Given the description of an element on the screen output the (x, y) to click on. 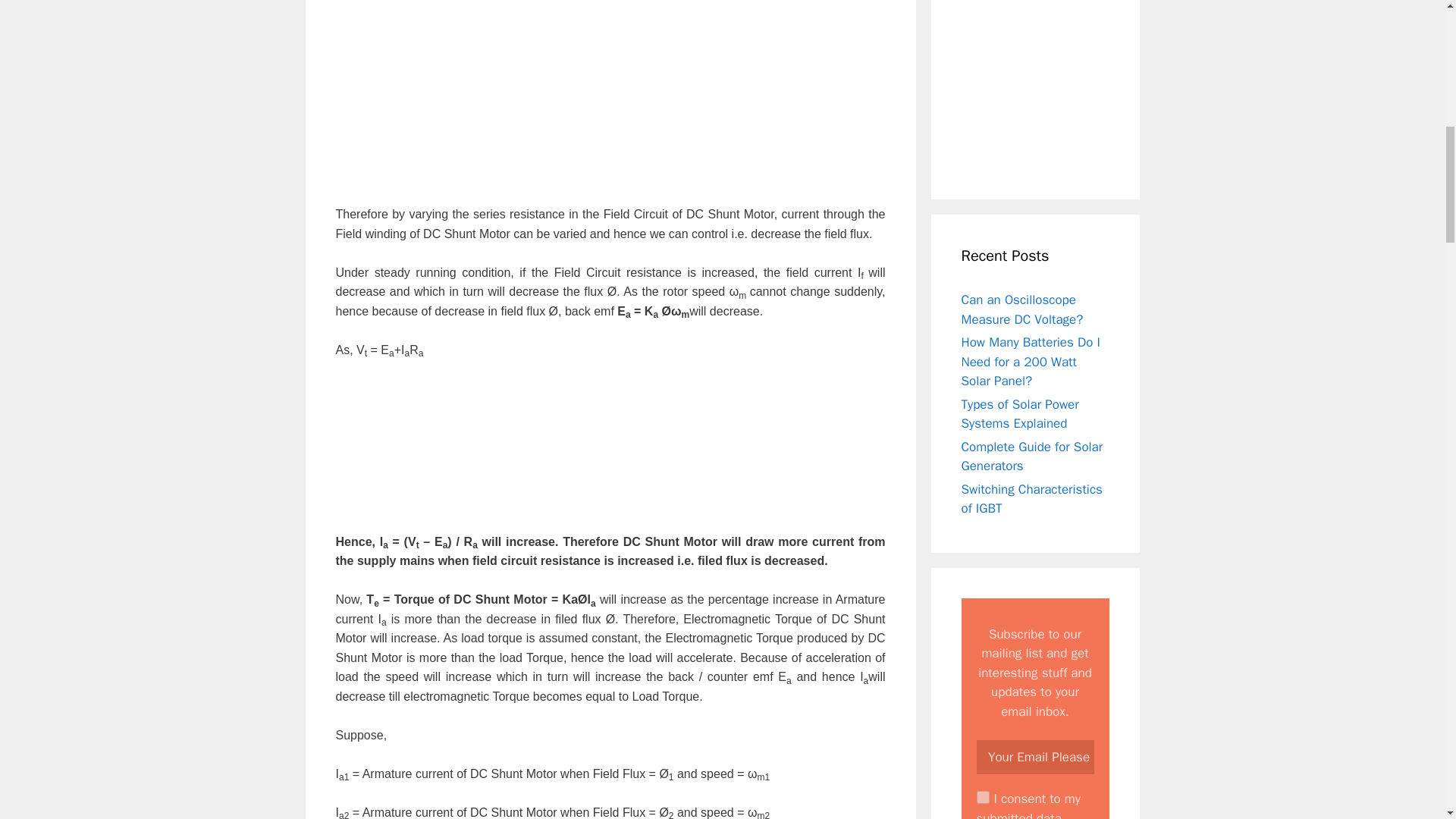
Can an Oscilloscope Measure DC Voltage? (1021, 309)
Advertisement (609, 447)
Types of Solar Power Systems Explained (1019, 413)
on (983, 797)
How Many Batteries Do I Need for a 200 Watt Solar Panel? (1030, 361)
